Given the description of an element on the screen output the (x, y) to click on. 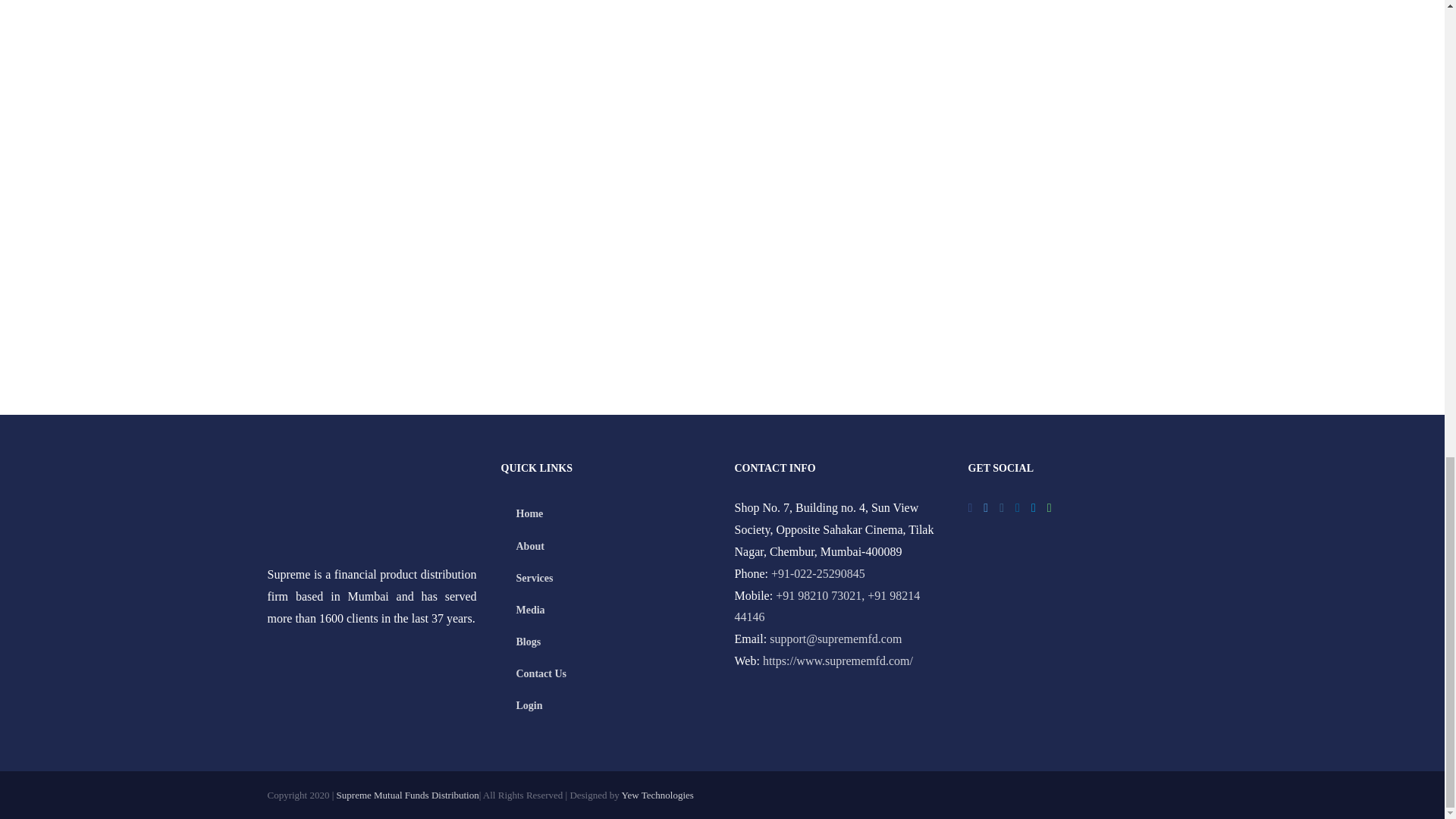
About (604, 546)
Home (604, 513)
Services (604, 578)
Media (604, 610)
Blogs (604, 642)
